Given the description of an element on the screen output the (x, y) to click on. 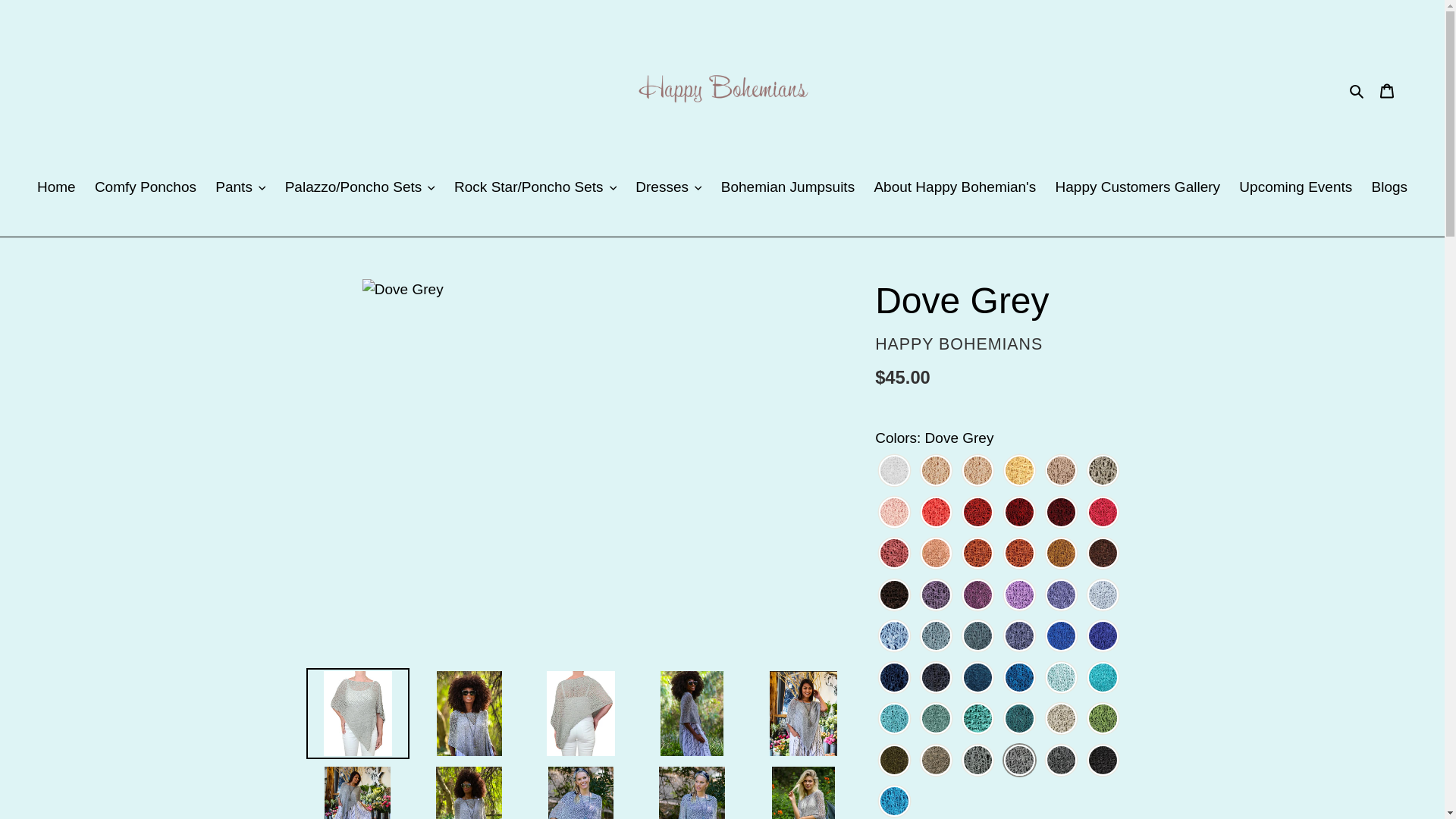
Pumpkin (977, 554)
Coffee Brown (894, 596)
Cardinal Red (977, 513)
Buttercup (1019, 471)
Crimson (1019, 513)
Heavenly White (894, 471)
Peach (936, 554)
Dusty Plum (936, 596)
Auburn (1102, 554)
Candlelight (977, 471)
Bisque (1061, 471)
Tumeric (1061, 554)
Blush Pink (894, 513)
Mauve (894, 554)
Coral (936, 513)
